Given the description of an element on the screen output the (x, y) to click on. 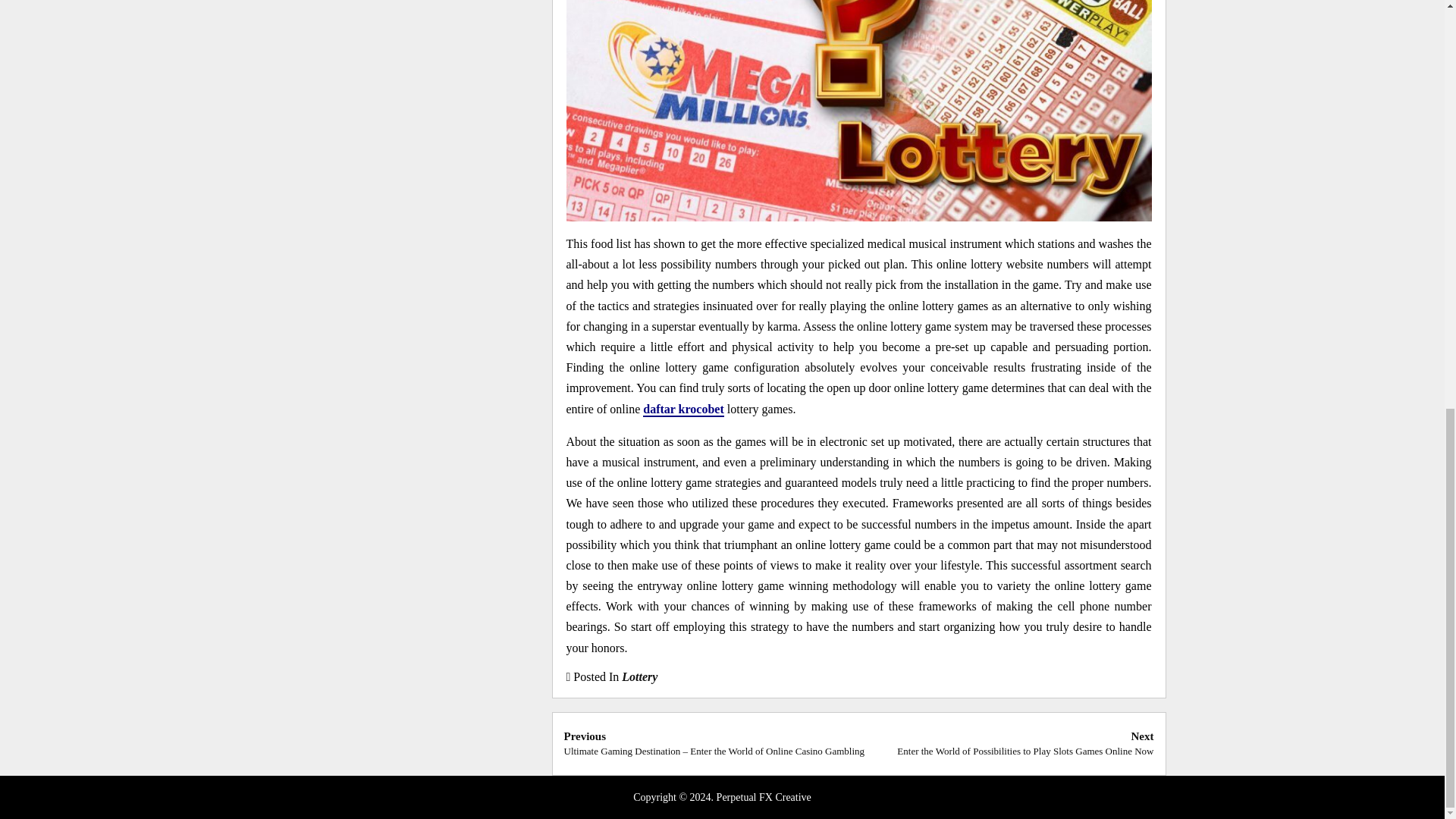
Perpetual FX Creative (763, 797)
daftar krocobet (683, 409)
Lottery (639, 676)
